Given the description of an element on the screen output the (x, y) to click on. 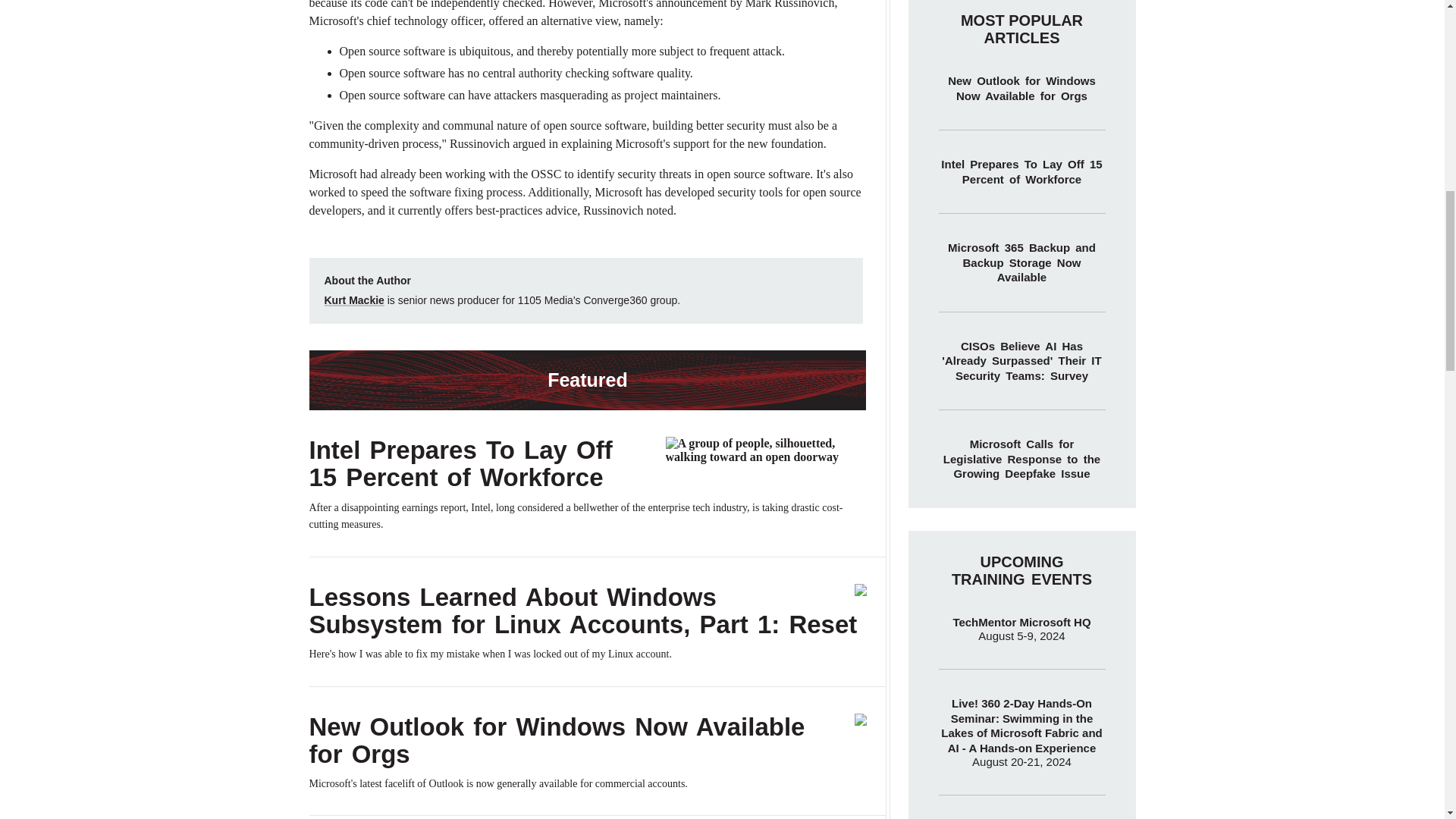
New Outlook for Windows Now Available for Orgs (556, 740)
Intel Prepares To Lay Off 15 Percent of Workforce (460, 463)
Kurt Mackie (354, 300)
